Given the description of an element on the screen output the (x, y) to click on. 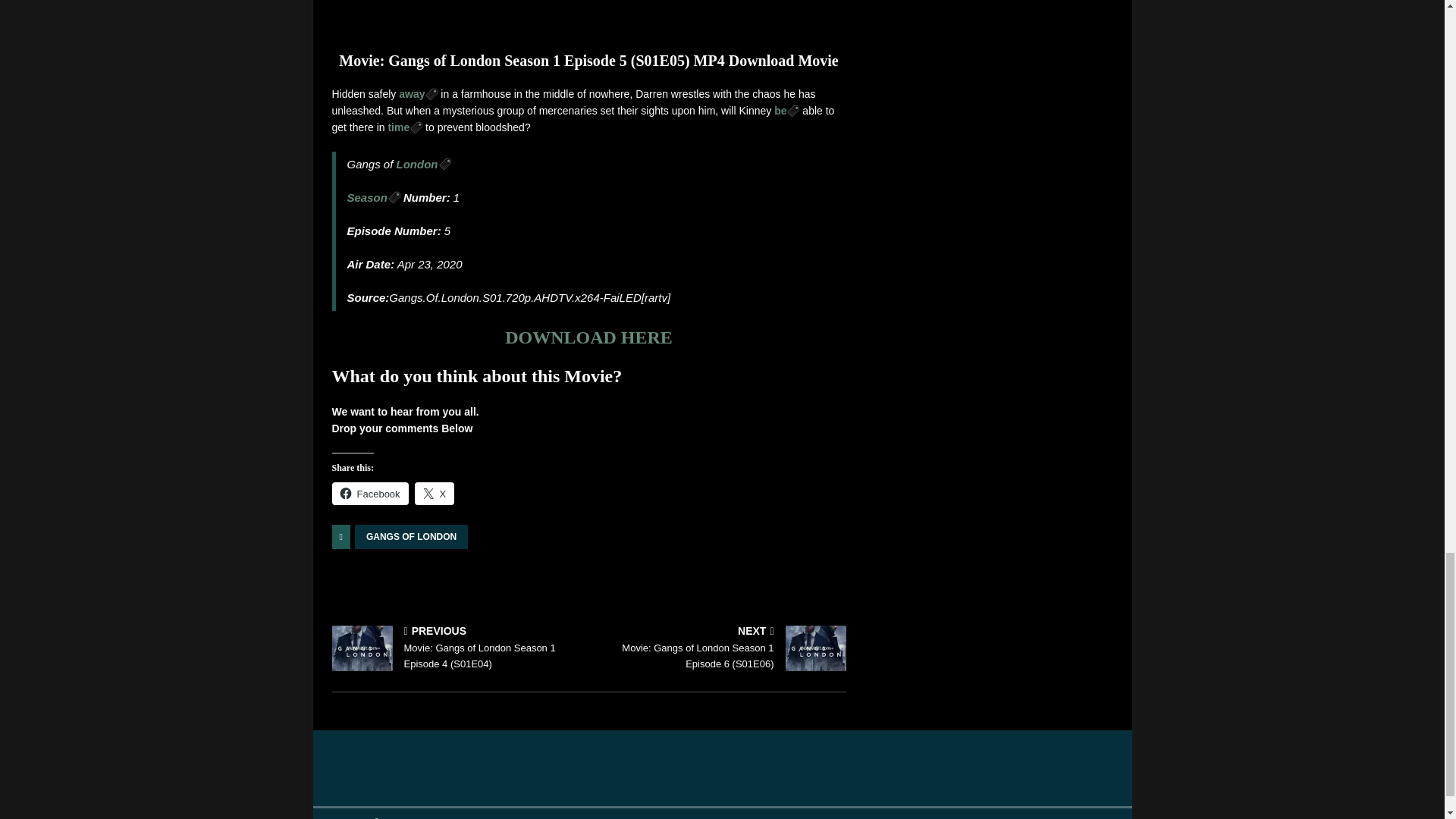
time (404, 127)
X (434, 493)
Season (373, 196)
Click to share on Facebook (370, 493)
away (418, 93)
Facebook (370, 493)
London (423, 164)
be (786, 110)
Click to share on X (434, 493)
GANGS OF LONDON (411, 536)
DOWNLOAD HERE (588, 337)
